Given the description of an element on the screen output the (x, y) to click on. 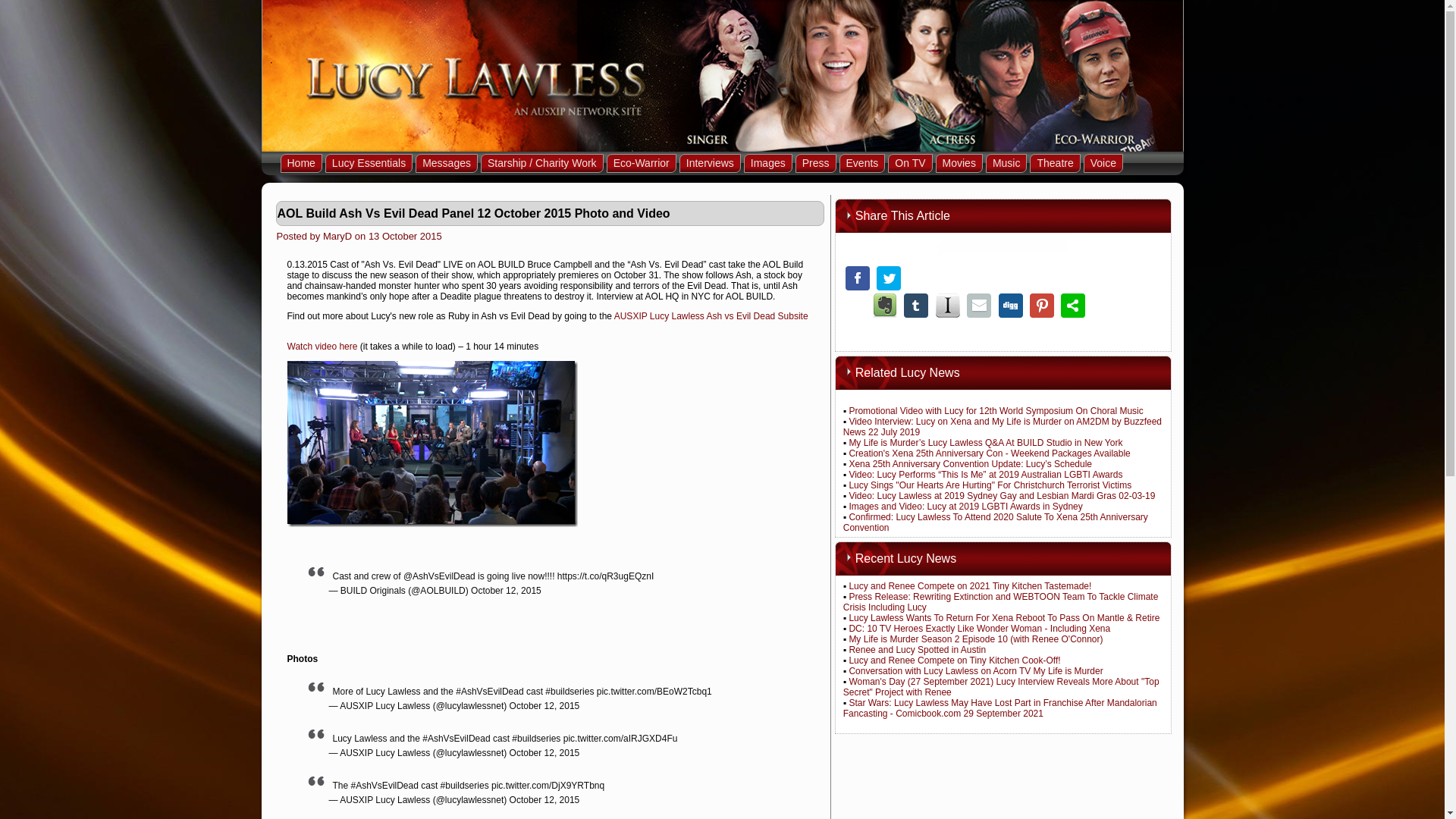
Press (814, 162)
Eco-Warrior (642, 162)
Interviews (710, 162)
Lucy Essentials (368, 162)
image (431, 444)
Home (301, 162)
Messages (445, 162)
Images (768, 162)
Twitter Follow Button (1004, 245)
